Given the description of an element on the screen output the (x, y) to click on. 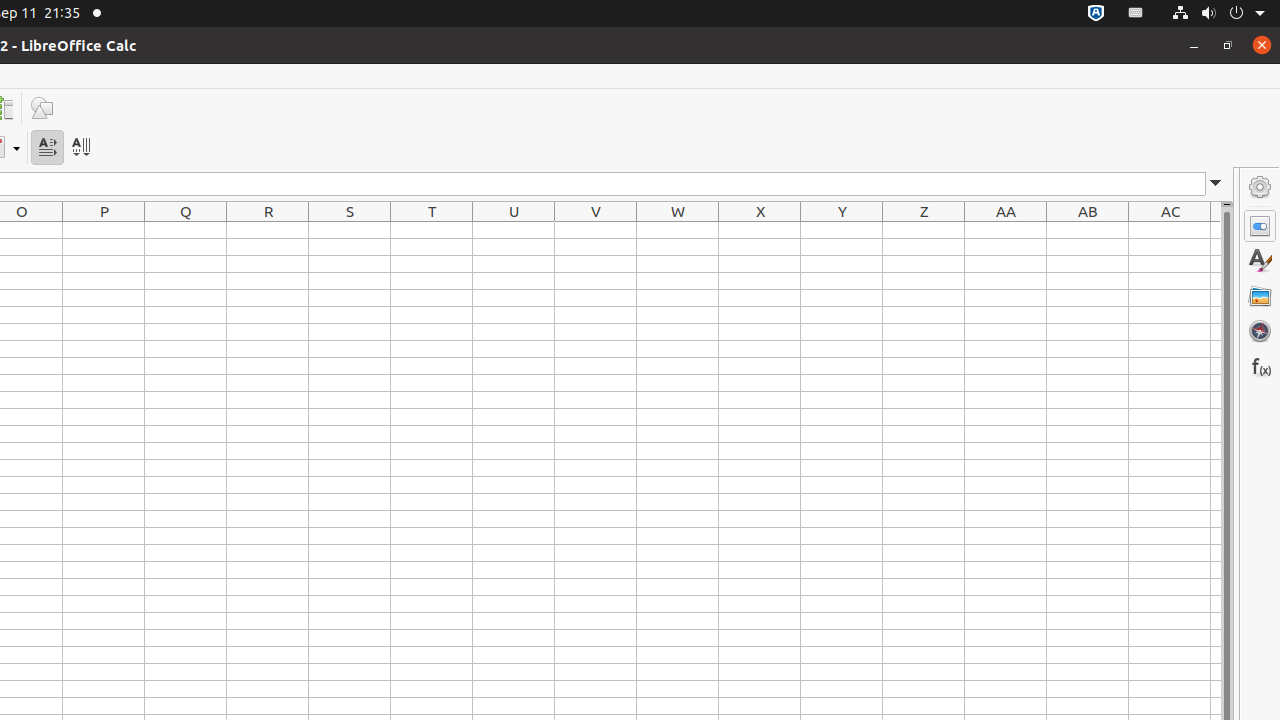
Text direction from left to right Element type: toggle-button (47, 147)
Styles Element type: radio-button (1260, 261)
W1 Element type: table-cell (678, 230)
